Given the description of an element on the screen output the (x, y) to click on. 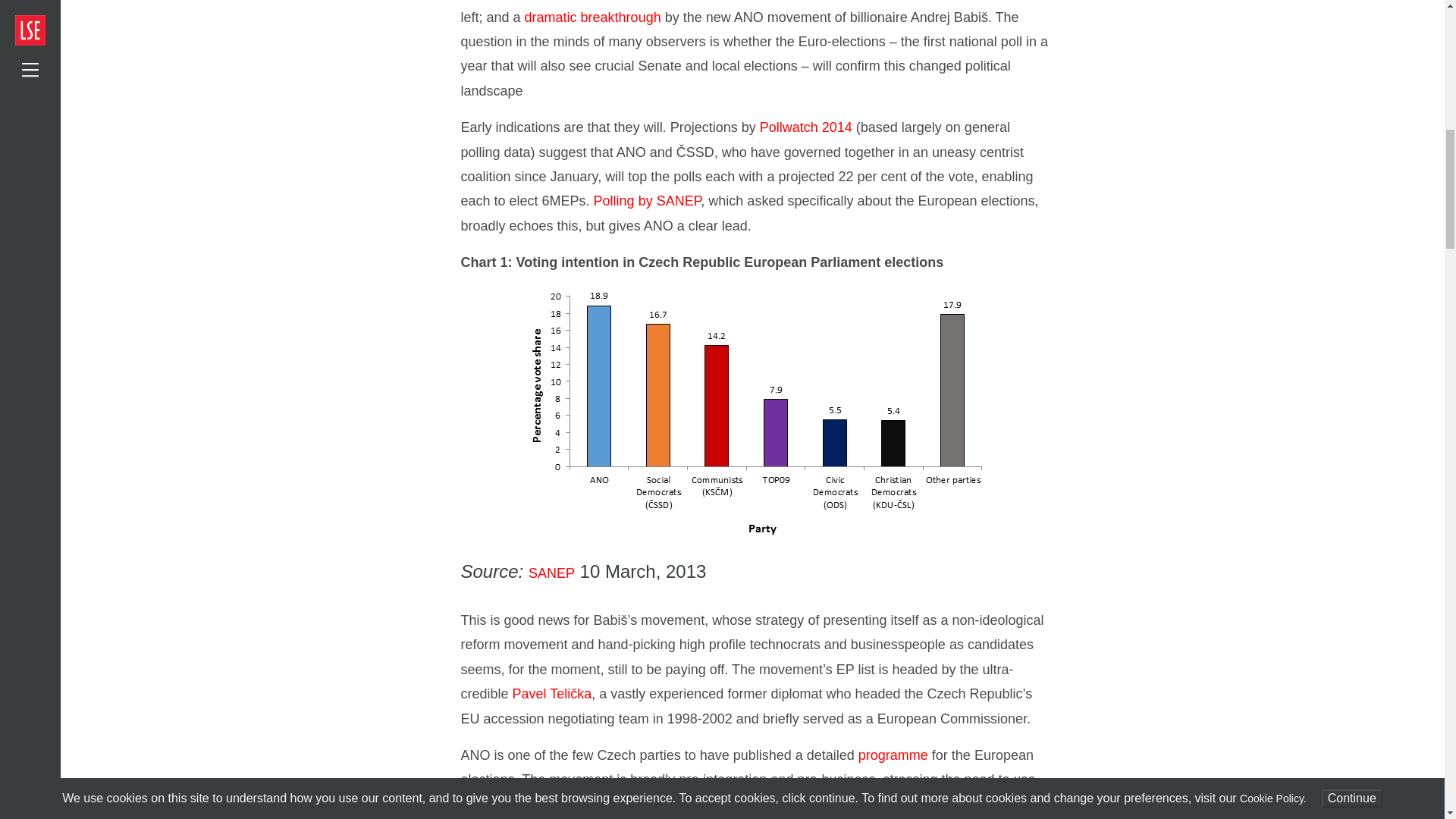
Polling by SANEP (647, 200)
programme (893, 754)
dramatic breakthrough (592, 17)
SANEP (551, 572)
Pollwatch 2014 (805, 127)
